Given the description of an element on the screen output the (x, y) to click on. 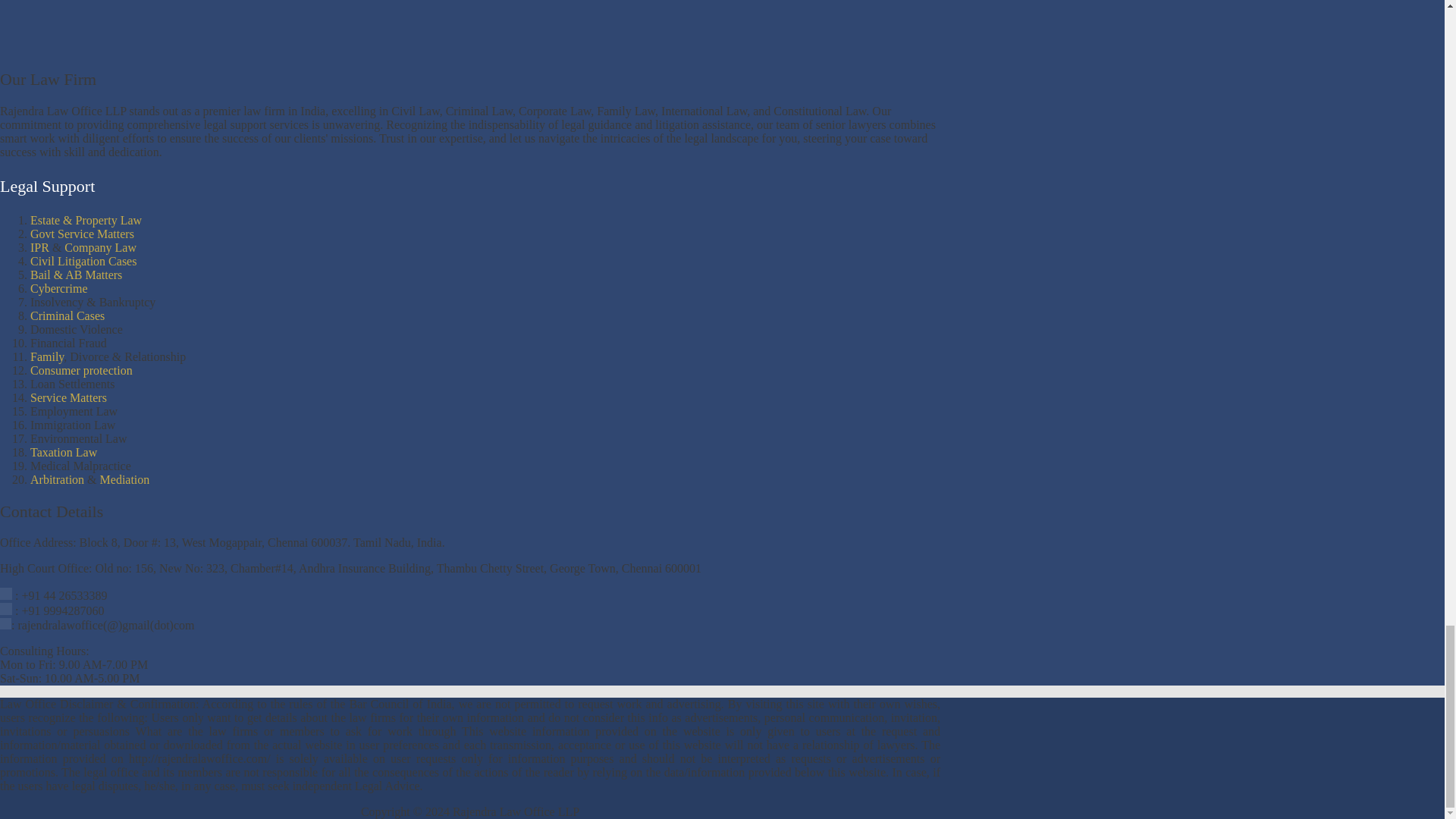
Cybercrime (58, 287)
Civil Litigation Cases (83, 260)
Taxation Law (63, 451)
YouTube video player (212, 26)
Mediation (124, 479)
Criminal Cases (67, 315)
Family (47, 356)
IPR (39, 246)
Service Matters (68, 397)
Govt Service Matters (81, 233)
